Given the description of an element on the screen output the (x, y) to click on. 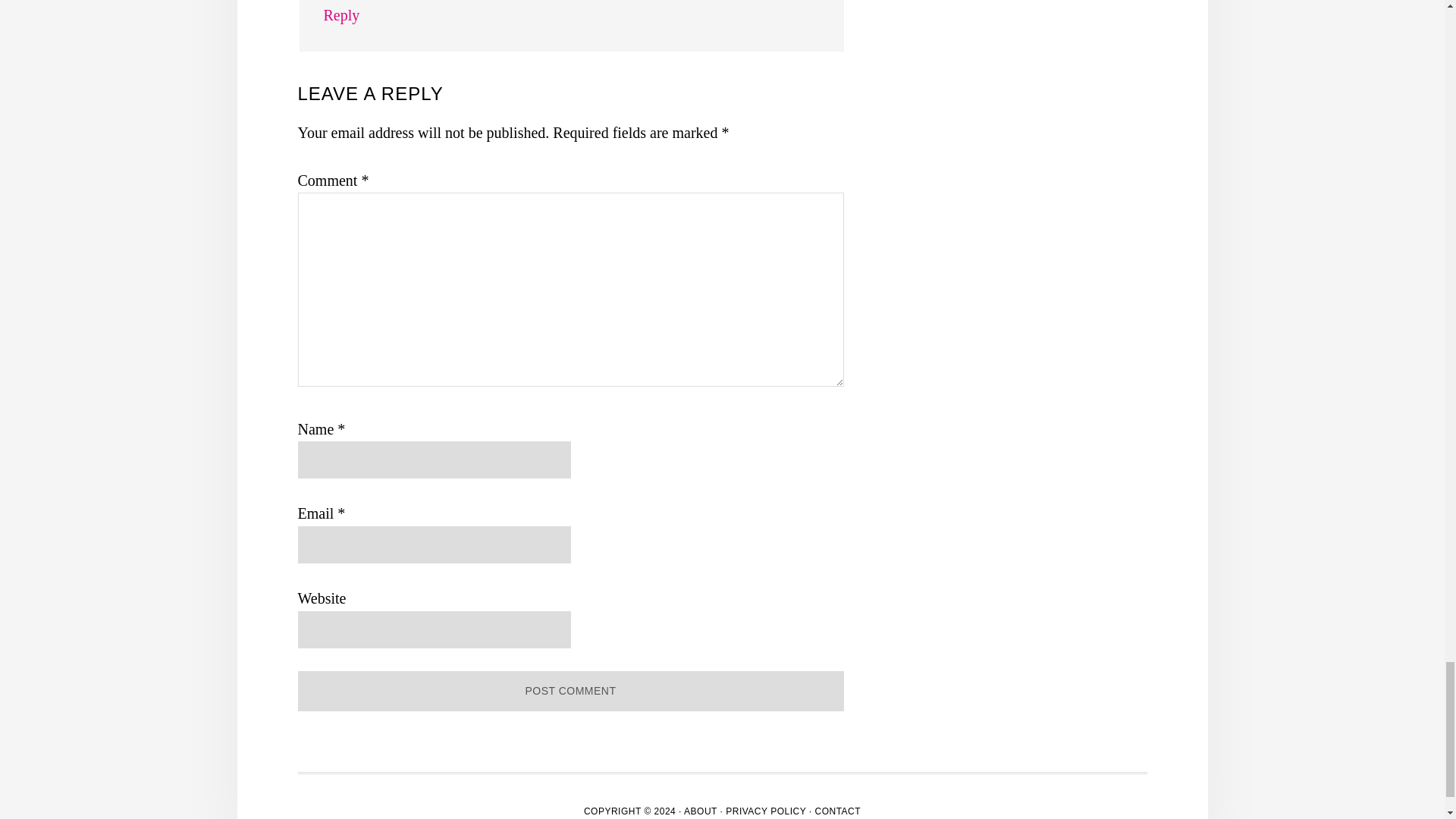
Post Comment (570, 690)
